Given the description of an element on the screen output the (x, y) to click on. 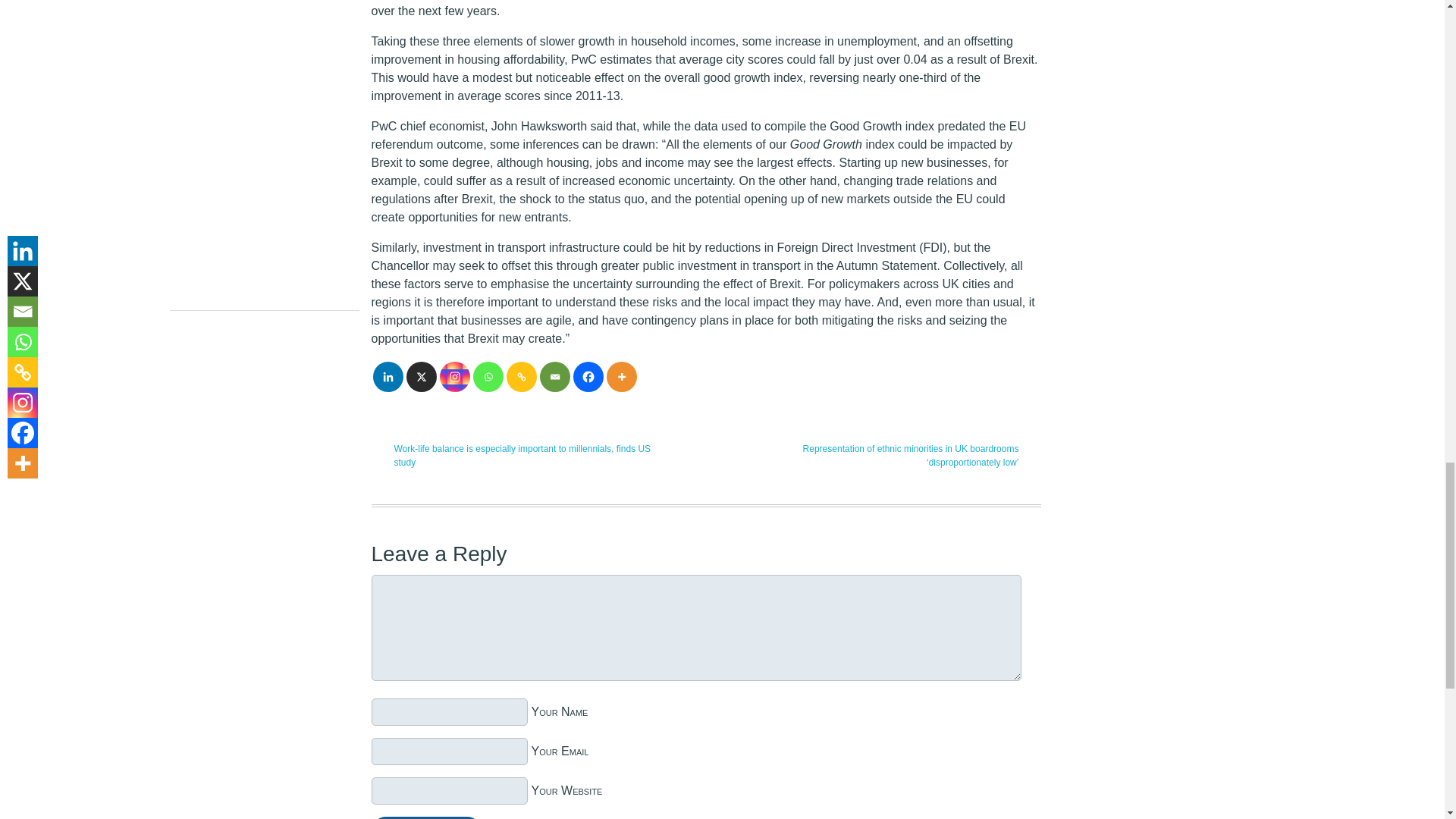
Email (555, 376)
Linkedin (387, 376)
Copy Link (521, 376)
More (622, 376)
Instagram (454, 376)
Facebook (588, 376)
Whatsapp (488, 376)
X (421, 376)
Post Comment (426, 817)
